Given the description of an element on the screen output the (x, y) to click on. 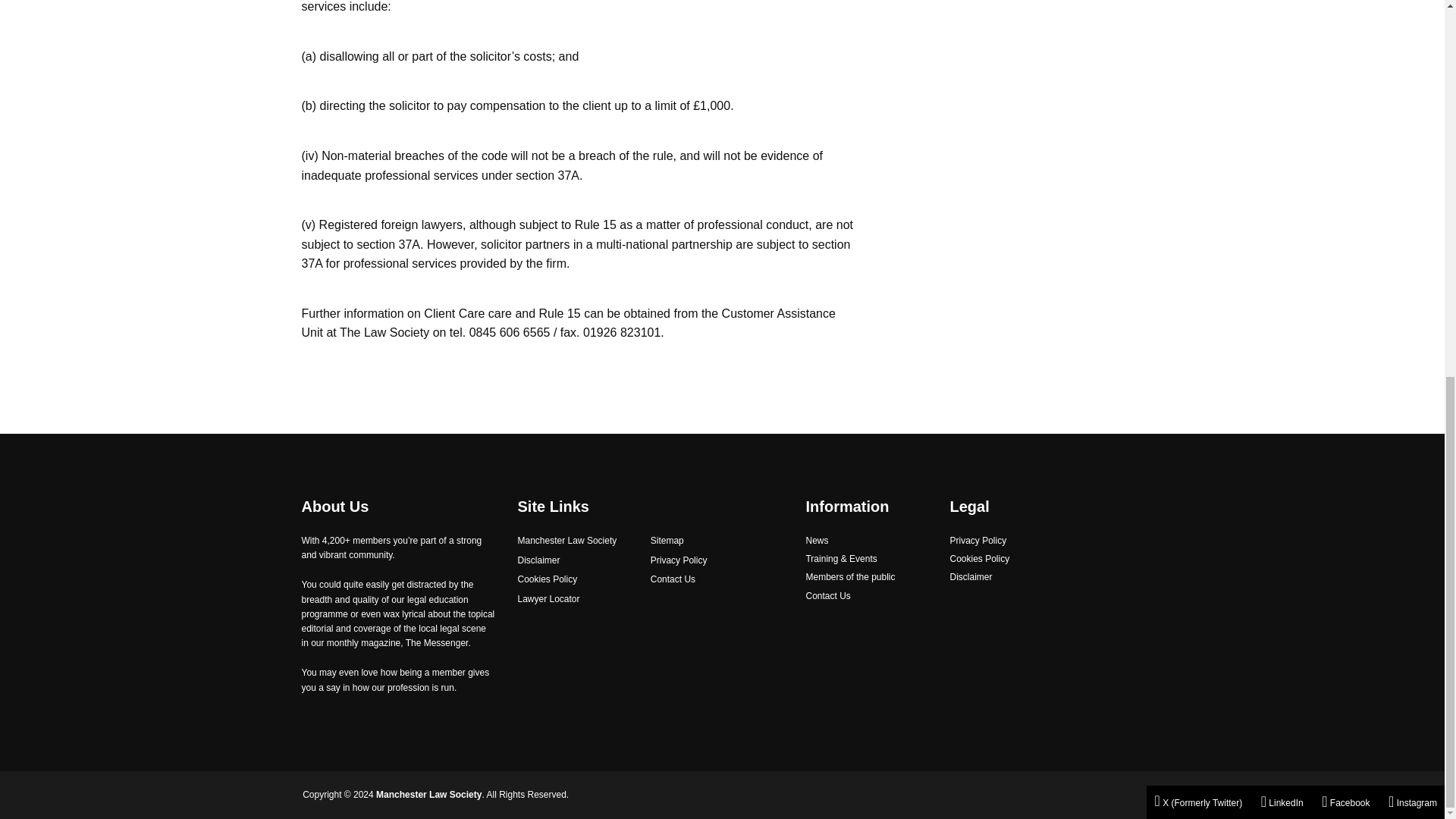
Cookies Policy (546, 579)
Cookies Policy (979, 559)
Lawyer Locator (547, 599)
Disclaimer (537, 560)
Privacy Policy (977, 541)
Members of the public (850, 577)
Contact Us (827, 595)
Privacy Policy (678, 560)
Sitemap (667, 541)
Contact Us (672, 579)
Manchester Law Society (565, 541)
News (816, 541)
LinkedIn (1282, 108)
Disclaimer (970, 577)
Facebook (1345, 108)
